Given the description of an element on the screen output the (x, y) to click on. 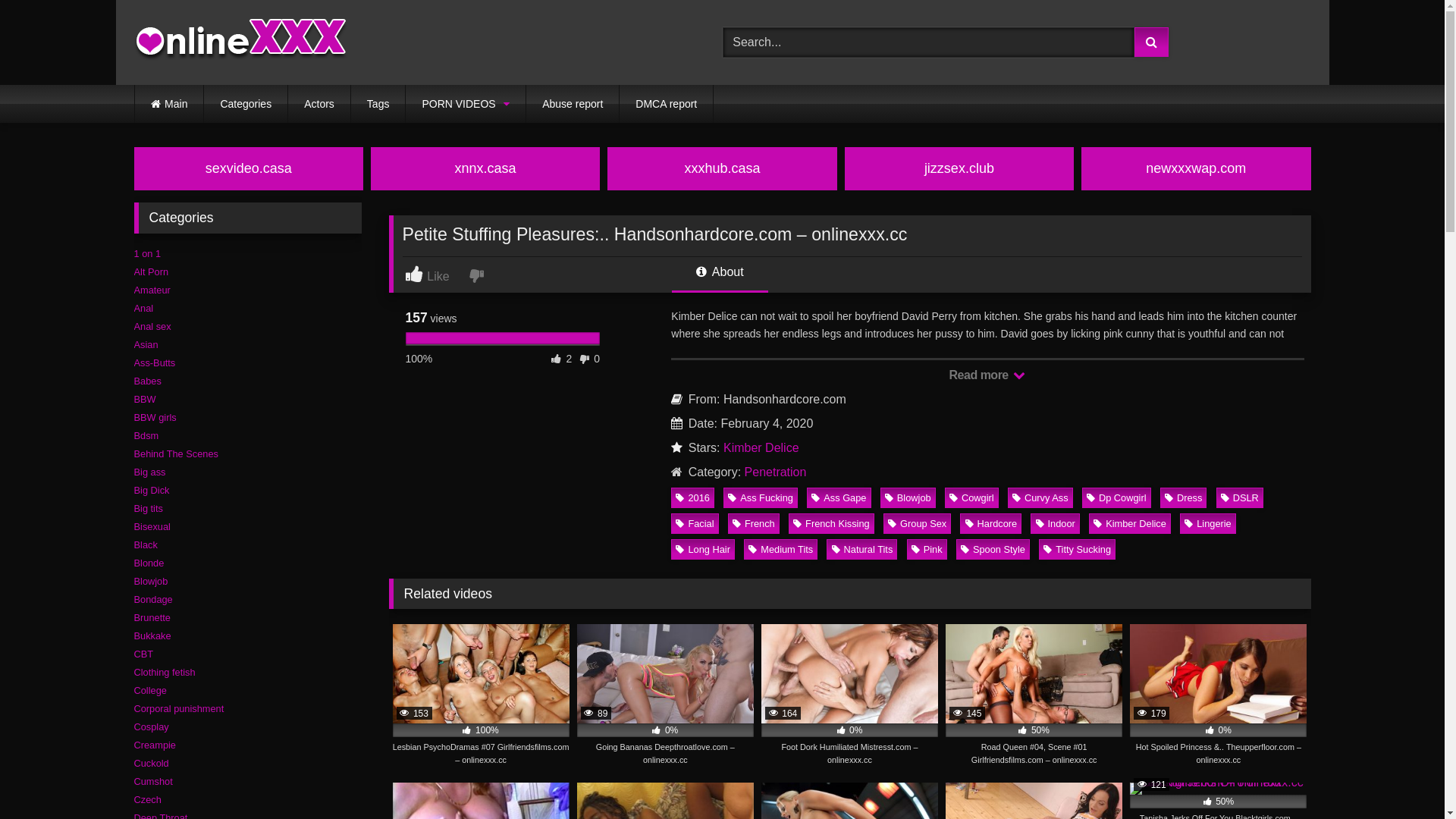
2016 Element type: text (692, 497)
DSLR Element type: text (1239, 497)
Titty Sucking Element type: text (1076, 548)
Cosplay Element type: text (150, 726)
Cowgirl Element type: text (971, 497)
PORN VIDEOS Element type: text (465, 103)
Indoor Element type: text (1054, 523)
BBW Element type: text (144, 398)
Behind The Scenes Element type: text (175, 453)
Actors Element type: text (319, 103)
Main Element type: text (168, 103)
Pink Element type: text (926, 548)
xnnx.casa Element type: text (484, 168)
DMCA report Element type: text (665, 103)
xxxhub.casa Element type: text (721, 168)
Online XXX Element type: hover (240, 41)
Anal Element type: text (143, 307)
Asian Element type: text (145, 344)
Natural Tits Element type: text (861, 548)
Black Element type: text (144, 544)
Penetration Element type: text (775, 471)
Ass Gape Element type: text (838, 497)
Lingerie Element type: text (1207, 523)
Dp Cowgirl Element type: text (1116, 497)
Like Element type: text (434, 274)
Blowjob Element type: text (150, 580)
Facial Element type: text (694, 523)
Anal sex Element type: text (151, 326)
Babes Element type: text (146, 380)
French Kissing Element type: text (831, 523)
Clothing fetish Element type: text (163, 671)
Group Sex Element type: text (916, 523)
Ass-Butts Element type: text (154, 362)
Amateur Element type: text (151, 289)
CBT Element type: text (143, 653)
Abuse report Element type: text (572, 103)
Kimber Delice Element type: text (1129, 523)
Creampie Element type: text (154, 744)
I dislike this Element type: hover (477, 274)
Kimber Delice Element type: text (761, 447)
Big tits Element type: text (147, 508)
Long Hair Element type: text (702, 548)
Blonde Element type: text (148, 562)
Alt Porn Element type: text (150, 271)
Dress Element type: text (1183, 497)
Corporal punishment Element type: text (178, 708)
Read more Element type: text (987, 373)
BBW girls Element type: text (154, 417)
Ass Fucking Element type: text (760, 497)
About Element type: text (719, 277)
Bisexual Element type: text (151, 526)
1 on 1 Element type: text (146, 253)
Blowjob Element type: text (907, 497)
Bdsm Element type: text (145, 435)
Cuckold Element type: text (150, 762)
Spoon Style Element type: text (992, 548)
French Element type: text (753, 523)
Brunette Element type: text (151, 617)
newxxxwap.com Element type: text (1195, 168)
Hardcore Element type: text (990, 523)
Big ass Element type: text (149, 471)
Cumshot Element type: text (152, 781)
Medium Tits Element type: text (780, 548)
College Element type: text (149, 690)
sexvideo.casa Element type: text (247, 168)
Bukkake Element type: text (151, 635)
Curvy Ass Element type: text (1040, 497)
Tags Element type: text (378, 103)
Czech Element type: text (146, 799)
Categories Element type: text (245, 103)
Skip to content Element type: text (0, 0)
Big Dick Element type: text (151, 489)
jizzsex.club Element type: text (958, 168)
Bondage Element type: text (152, 599)
